Given the description of an element on the screen output the (x, y) to click on. 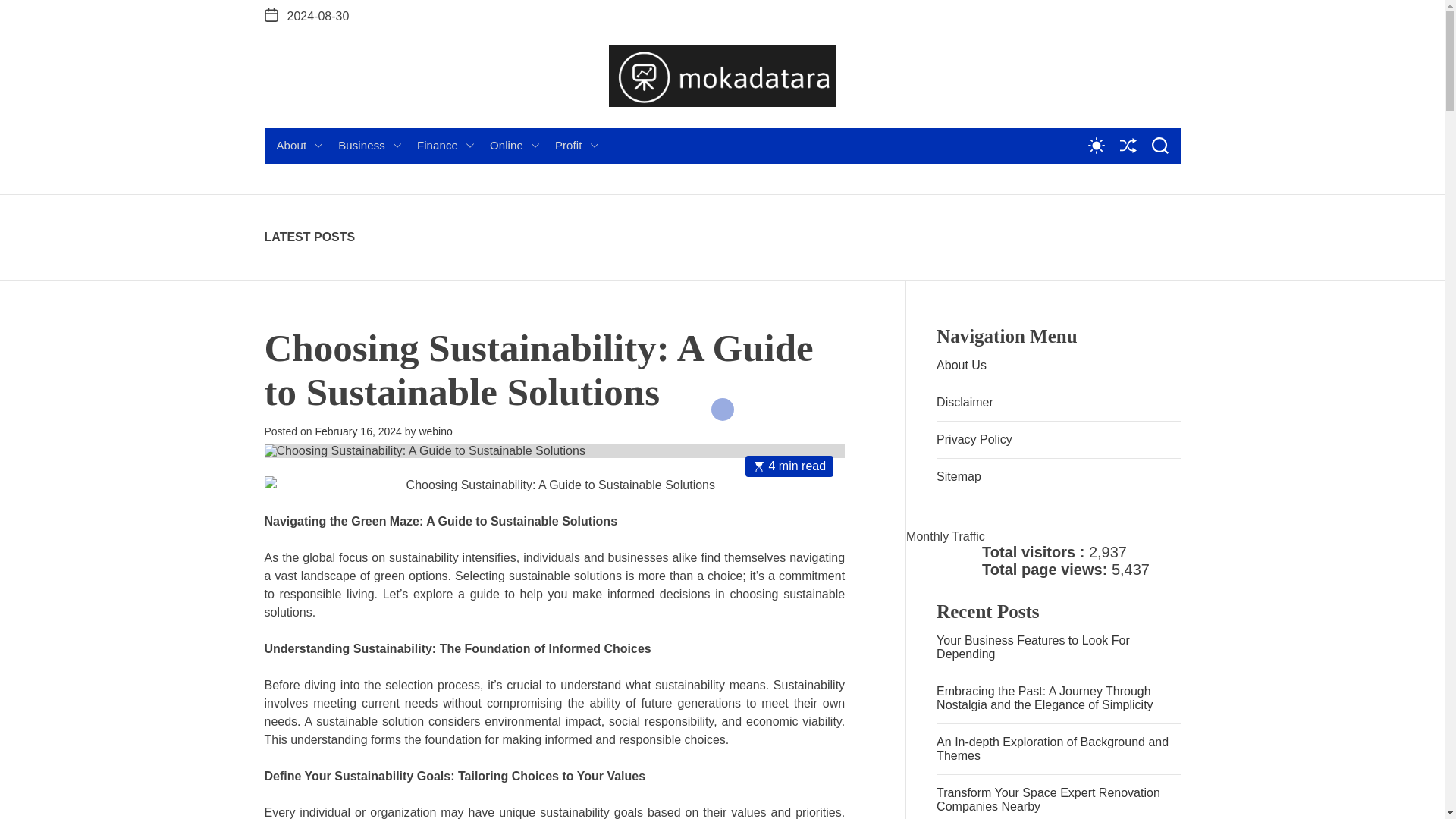
SHUFFLE (1127, 145)
Choosing Sustainability: A Guide to Sustainable Solutions (553, 450)
SWITCH COLOR MODE (1095, 145)
Finance (445, 145)
Profit (576, 145)
Business (369, 145)
SEARCH (1159, 145)
Choosing Sustainability: A Guide to Sustainable Solutions (553, 484)
About (299, 145)
Online (514, 145)
